Given the description of an element on the screen output the (x, y) to click on. 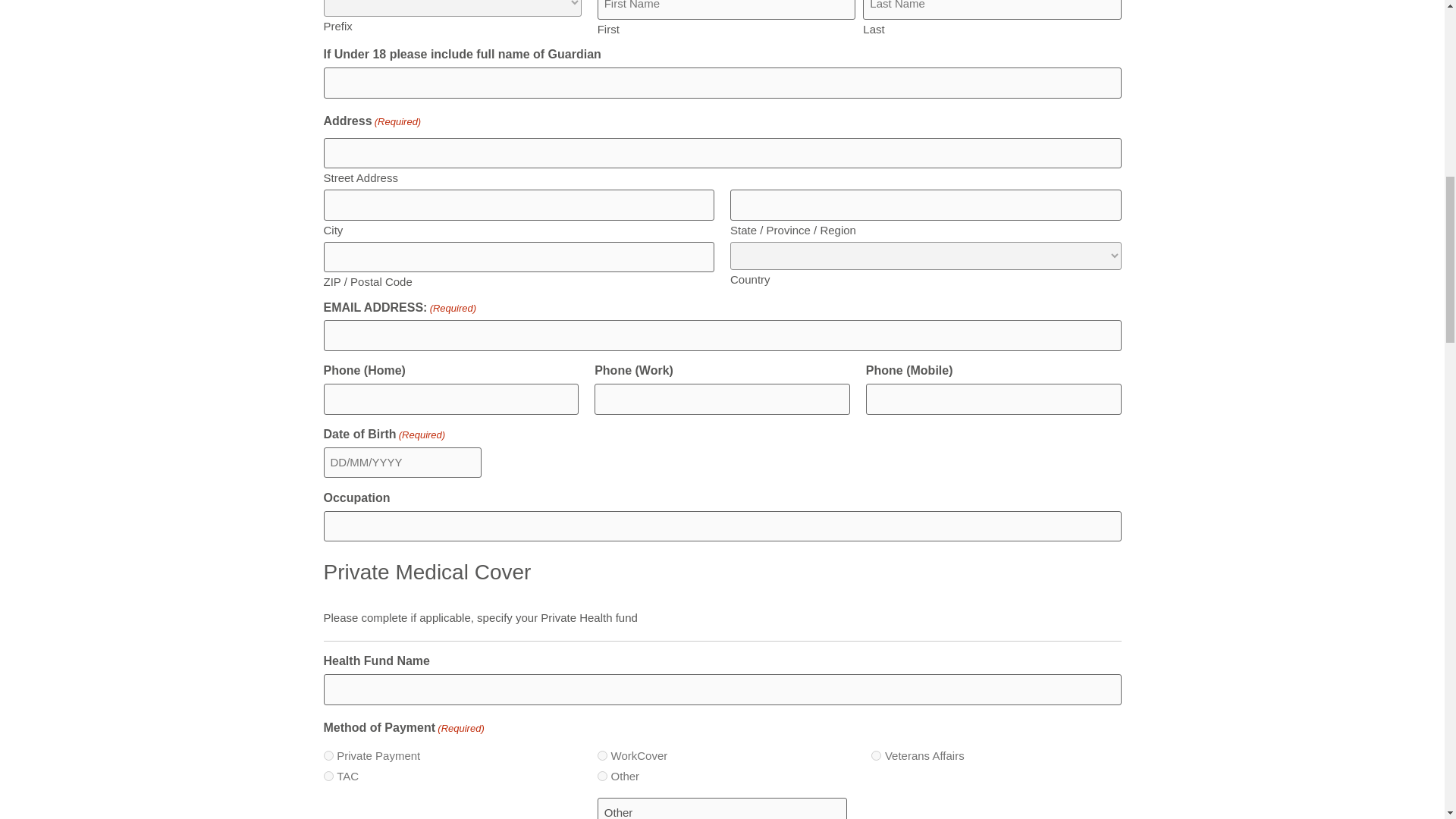
Other (721, 808)
Private Payment (328, 755)
TAC (328, 776)
Veterans Affairs (875, 755)
WorkCover (601, 755)
